Given the description of an element on the screen output the (x, y) to click on. 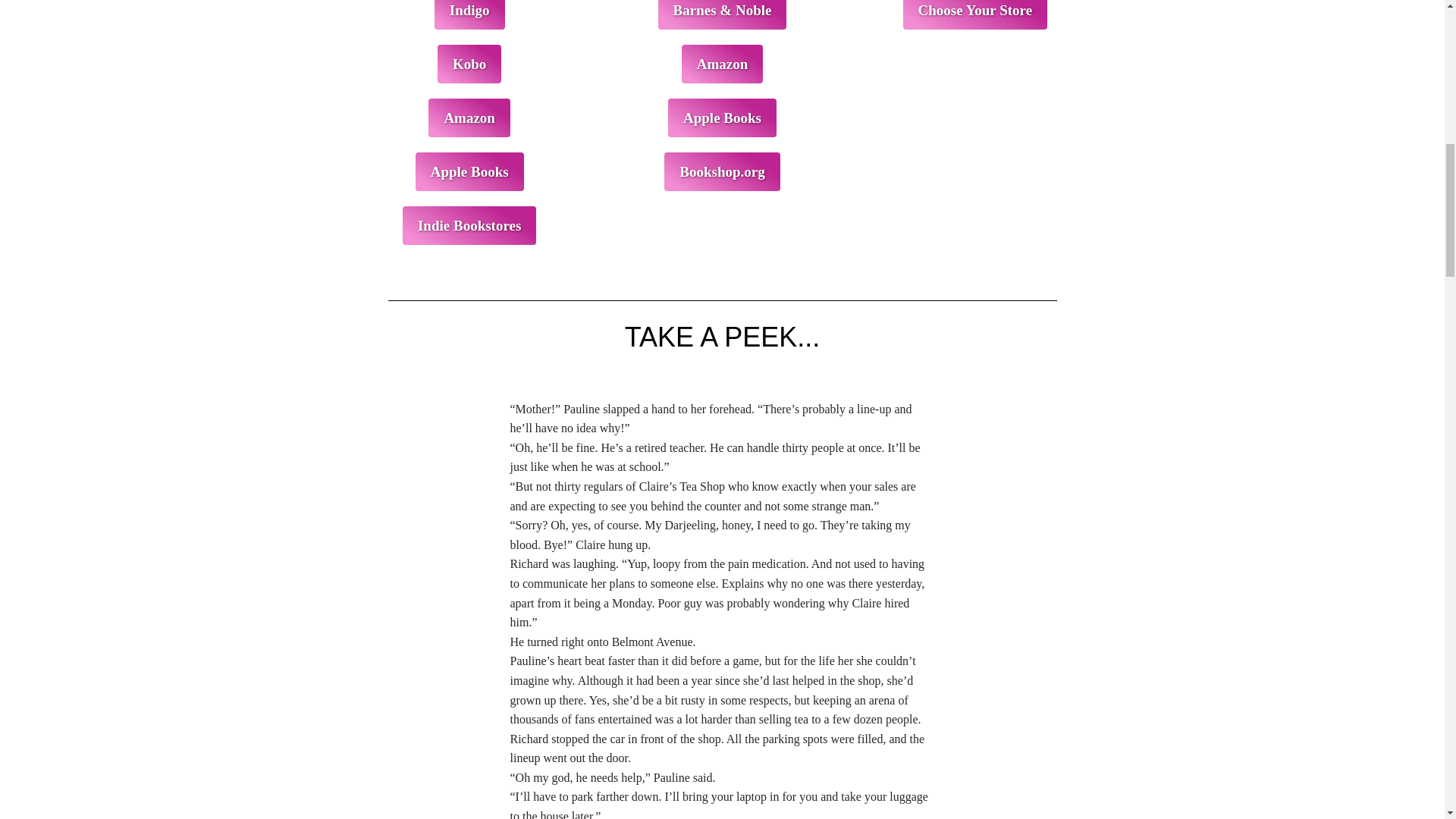
Bookshop.org (720, 171)
Indie Bookstores (469, 225)
Amazon (721, 64)
Indigo (469, 14)
Apple Books (469, 171)
Apple Books (722, 117)
Kobo (469, 64)
Amazon (469, 117)
Choose Your Store (975, 14)
